Given the description of an element on the screen output the (x, y) to click on. 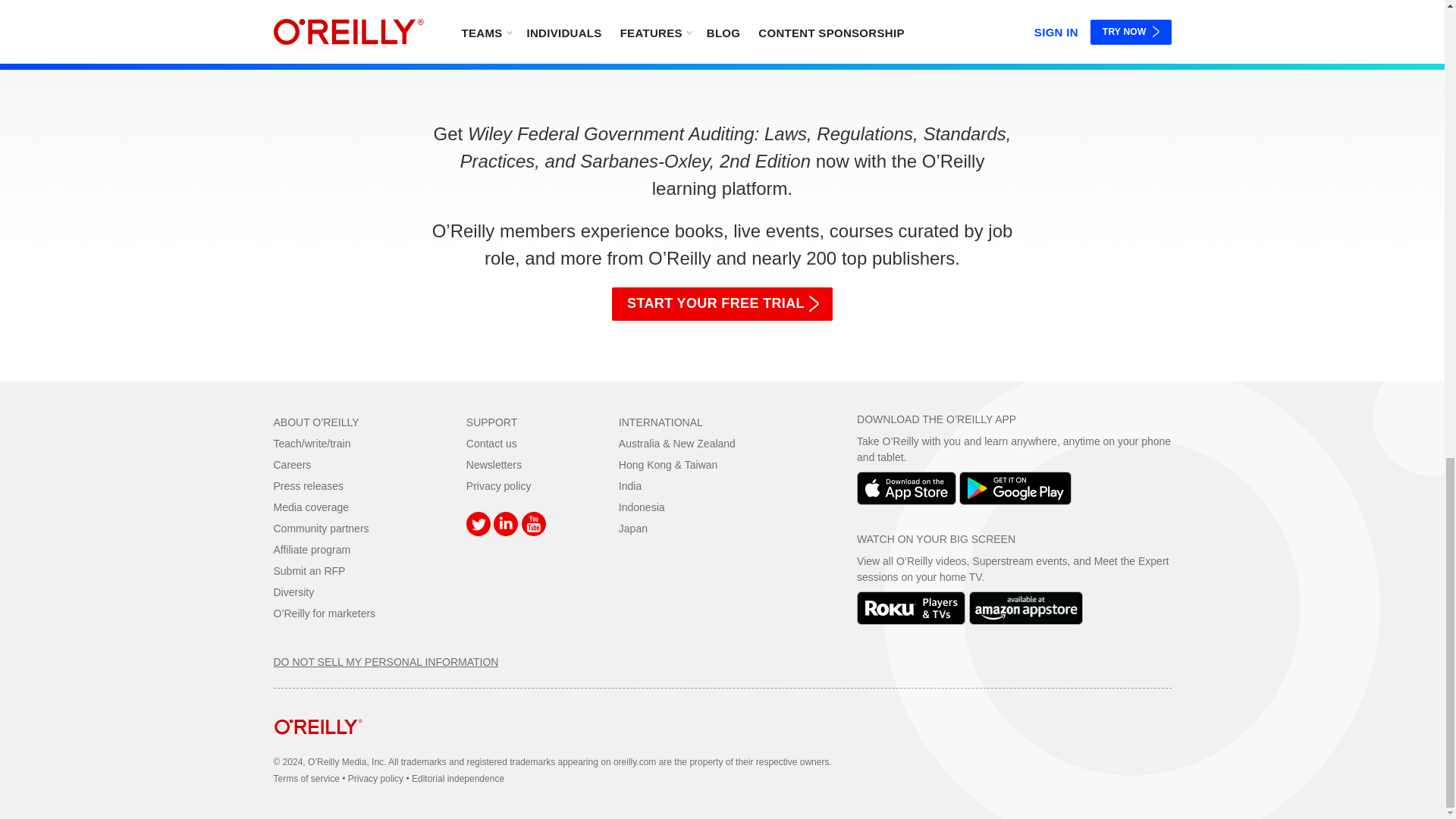
Submit an RFP (309, 571)
Contact us (490, 443)
Diversity (293, 592)
Careers (292, 464)
Privacy policy (498, 485)
Affiliate program (311, 549)
Newsletters (493, 464)
SUPPORT (490, 422)
Media coverage (311, 507)
Press releases (308, 485)
START YOUR FREE TRIAL (721, 304)
home page (317, 745)
Community partners (320, 528)
